Given the description of an element on the screen output the (x, y) to click on. 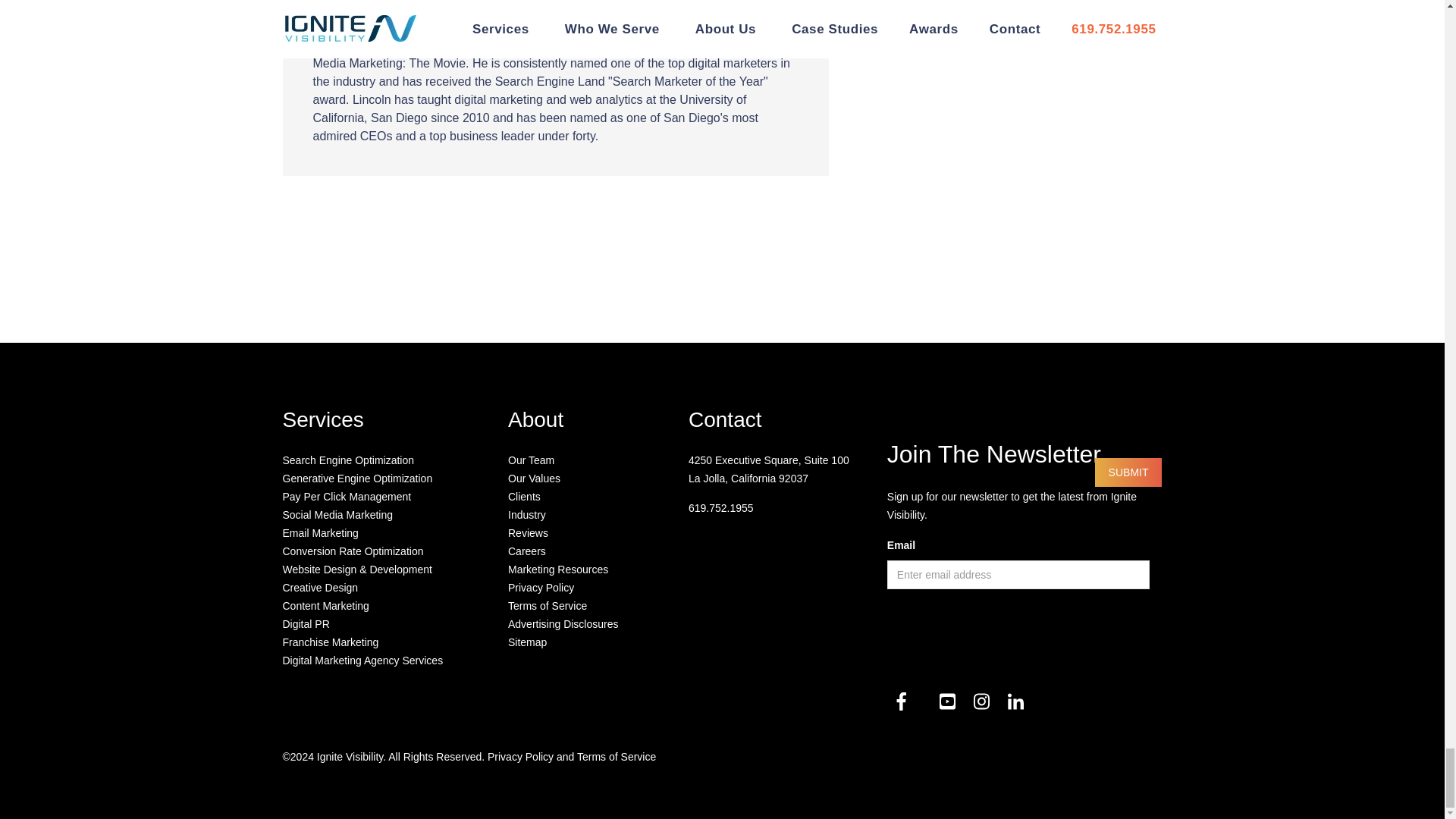
Submit (1127, 471)
Social Media Marketing Services (337, 514)
PPC Services (346, 496)
Email Services (320, 532)
GEO Services (357, 478)
SEO Services (347, 460)
